Given the description of an element on the screen output the (x, y) to click on. 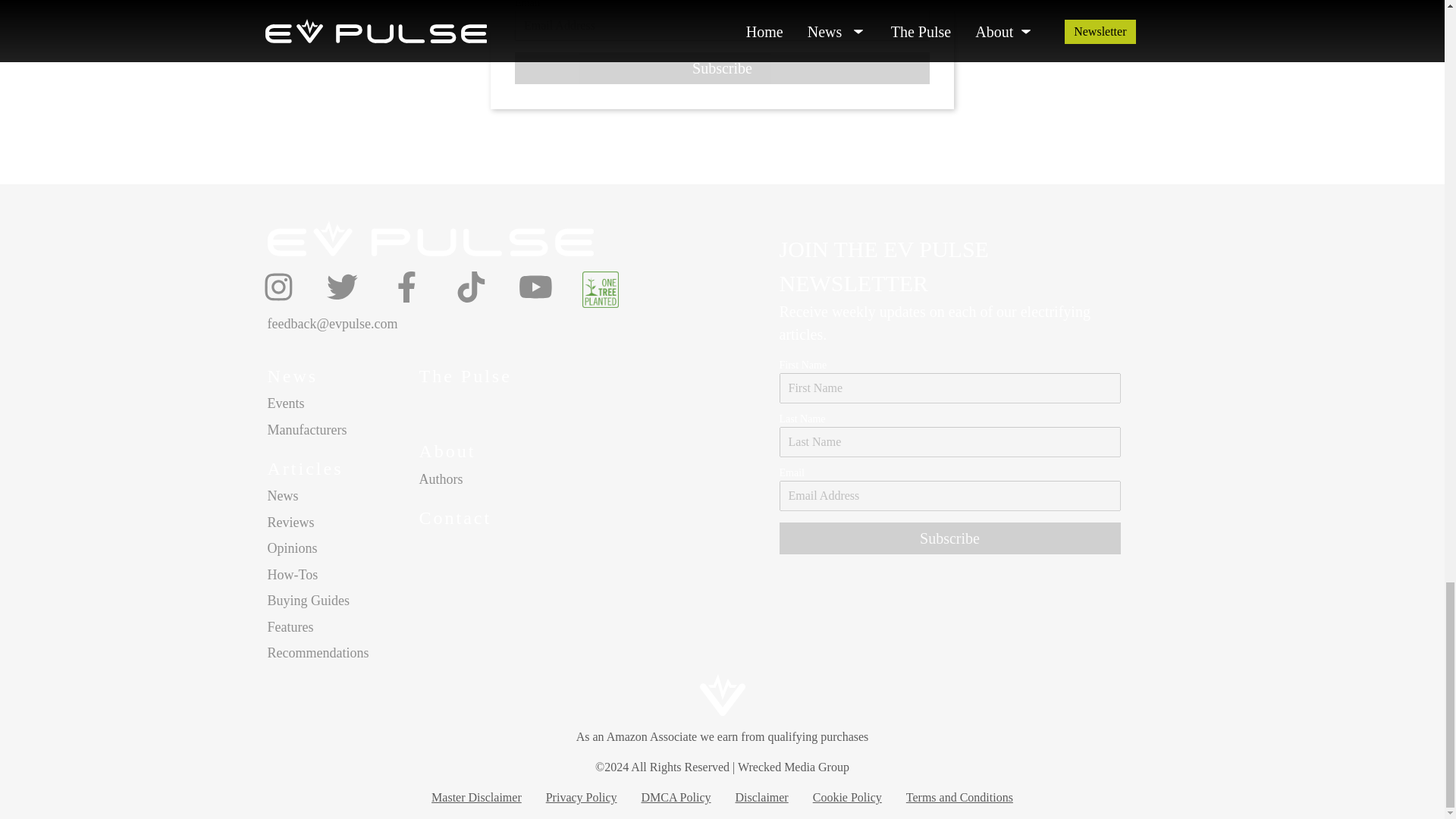
Subscribe (722, 68)
Subscribe (722, 68)
Subscribe (949, 538)
